Given the description of an element on the screen output the (x, y) to click on. 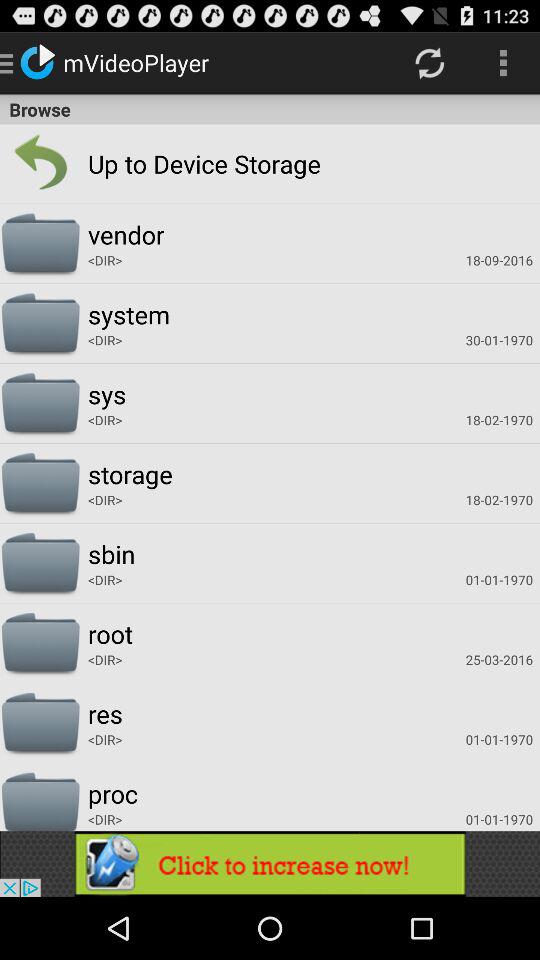
choose item to the left of the up to storage icon (40, 163)
